Given the description of an element on the screen output the (x, y) to click on. 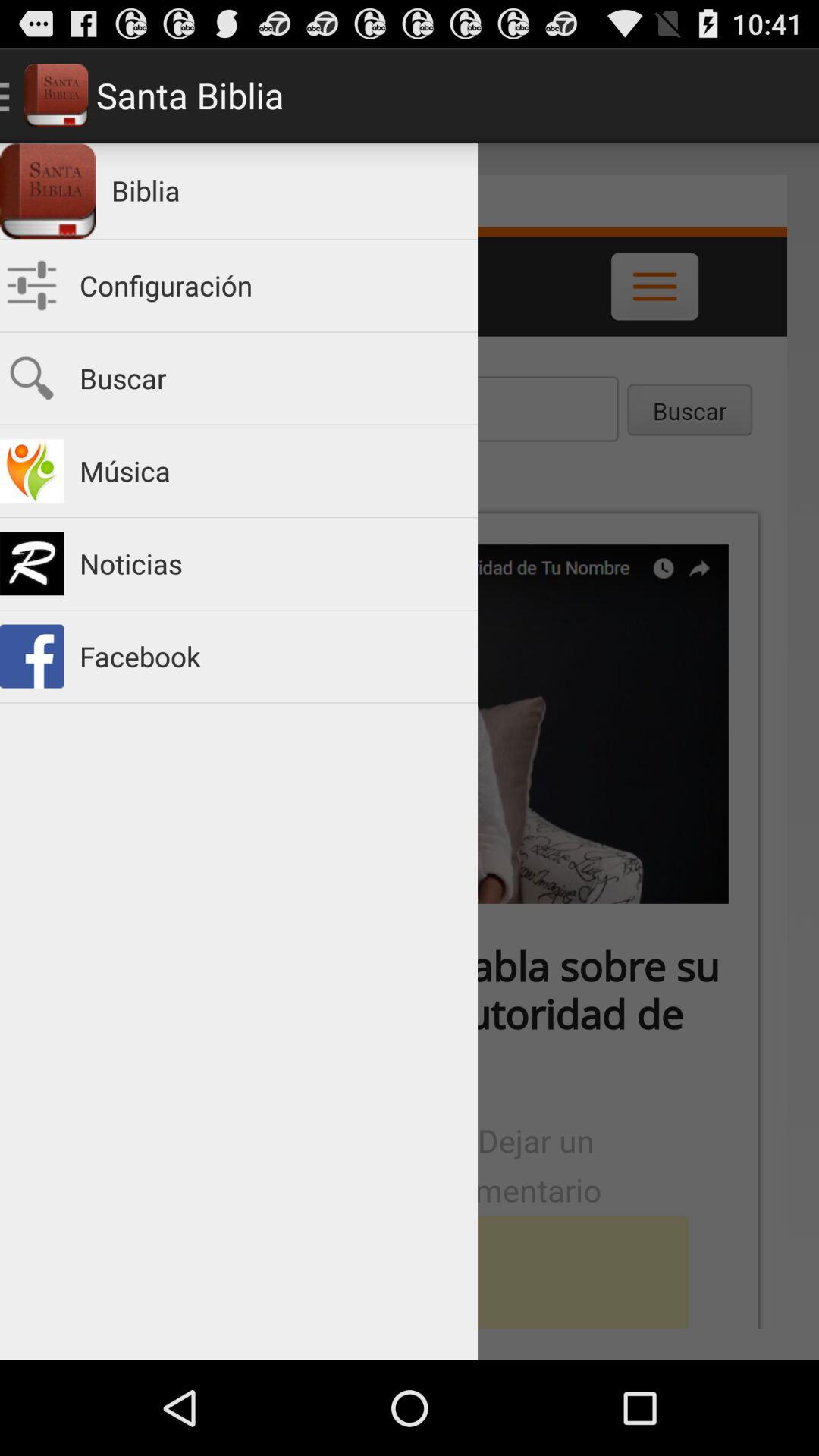
select icon below the buscar (270, 471)
